Given the description of an element on the screen output the (x, y) to click on. 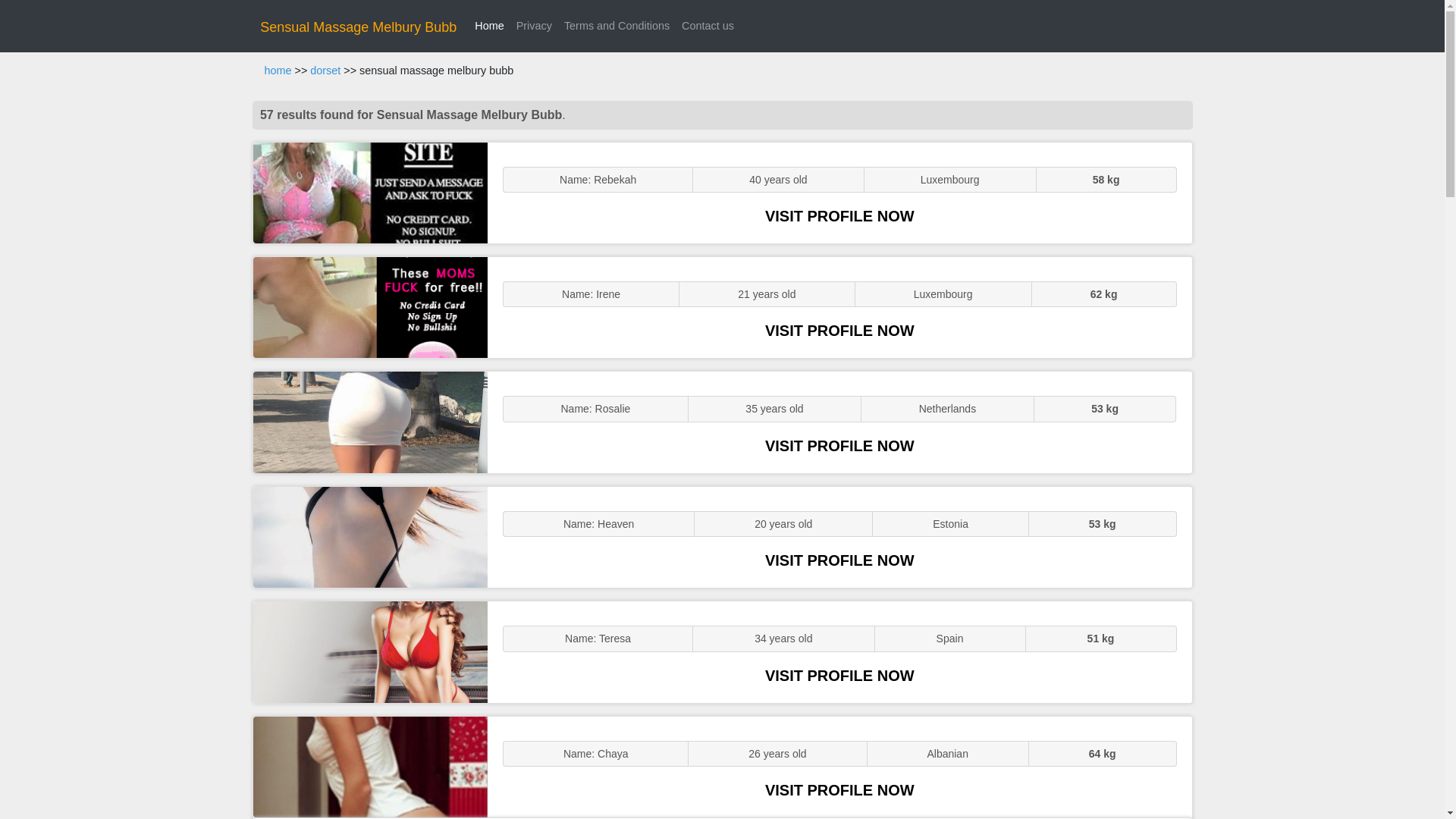
Contact us (707, 25)
dorset (325, 70)
Sluts (370, 537)
Terms and Conditions (616, 25)
VISIT PROFILE NOW (839, 790)
 ENGLISH STUNNER (370, 192)
VISIT PROFILE NOW (839, 560)
VISIT PROFILE NOW (839, 216)
Sexy (370, 421)
Sensual Massage Melbury Bubb (358, 27)
